Given the description of an element on the screen output the (x, y) to click on. 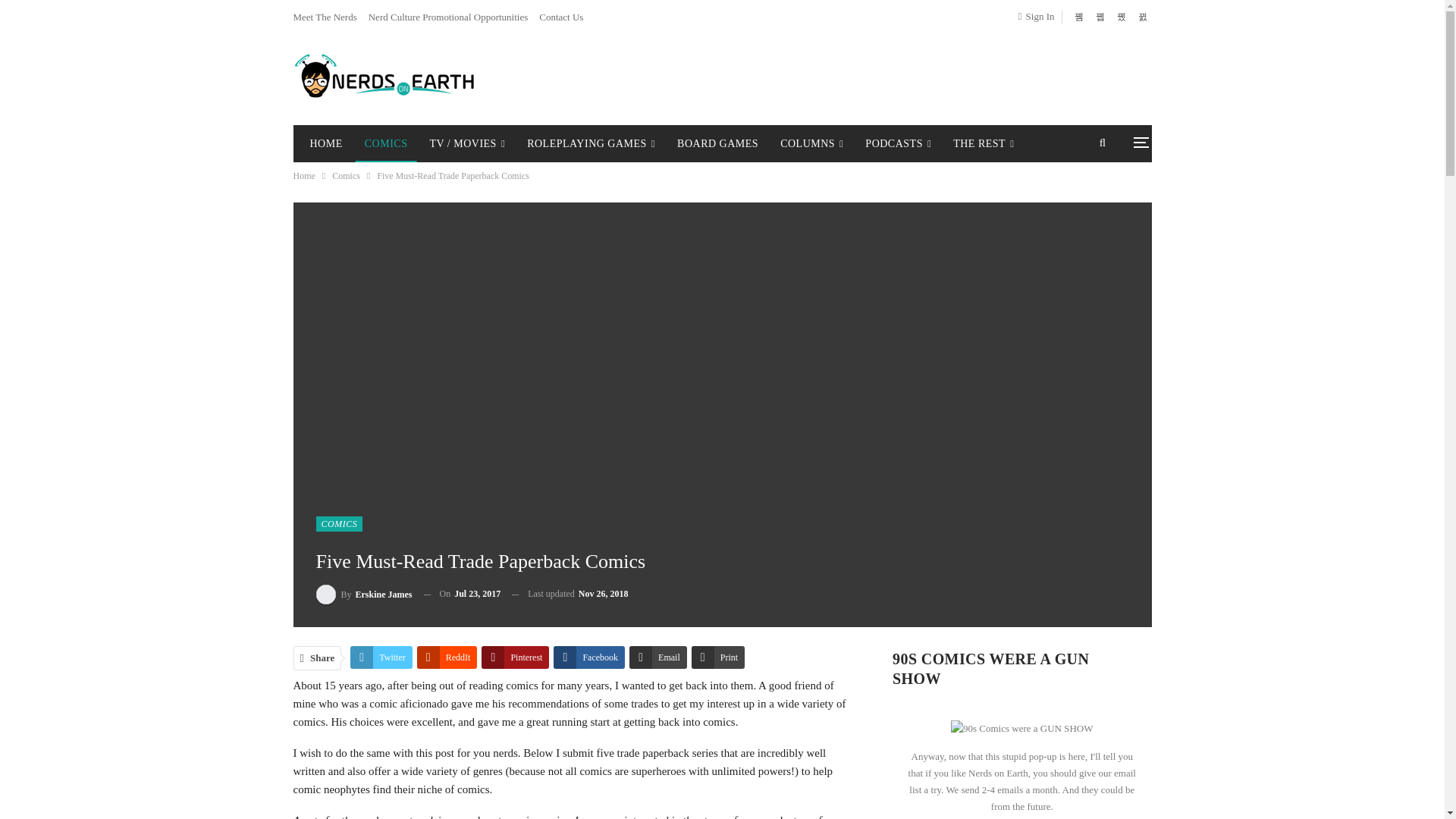
ROLEPLAYING GAMES (590, 144)
Sign In (1039, 16)
Contact Us (560, 16)
BOARD GAMES (717, 144)
HOME (324, 144)
Meet The Nerds (324, 16)
Browse Author Articles (363, 593)
PODCASTS (898, 144)
Nerd Culture Promotional Opportunities (448, 16)
COLUMNS (811, 144)
THE REST (983, 144)
COMICS (385, 144)
